Given the description of an element on the screen output the (x, y) to click on. 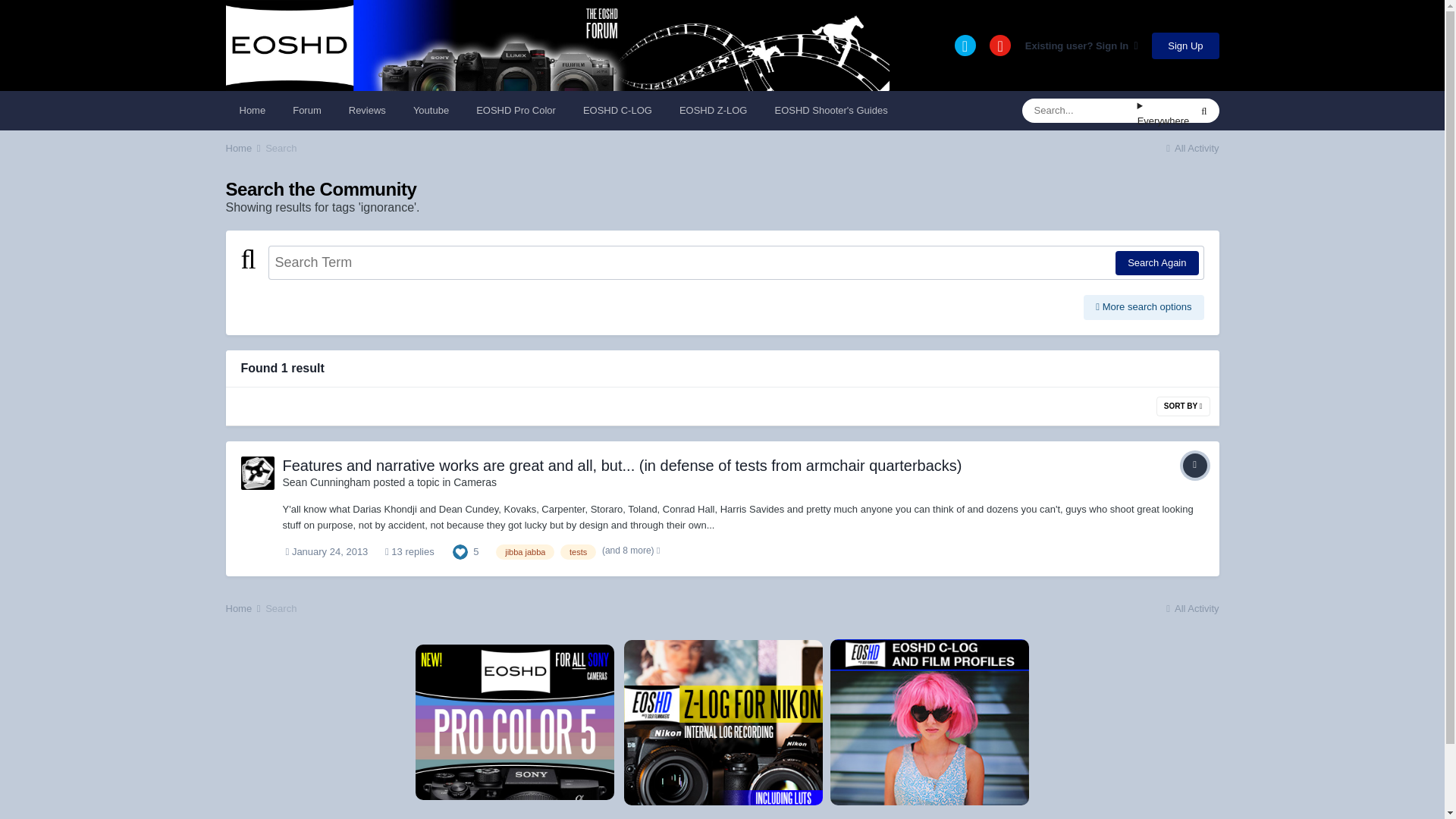
Go to Sean Cunningham's profile (258, 472)
Go to Sean Cunningham's profile (325, 481)
Find other content tagged with 'jibba jabba' (525, 551)
Sign Up (1184, 44)
EOSHD Shooter's Guides (830, 110)
EOSHD Z-LOG (713, 110)
Youtube (430, 110)
See who reacted "Like" (459, 550)
Search (280, 147)
Home (244, 147)
